Given the description of an element on the screen output the (x, y) to click on. 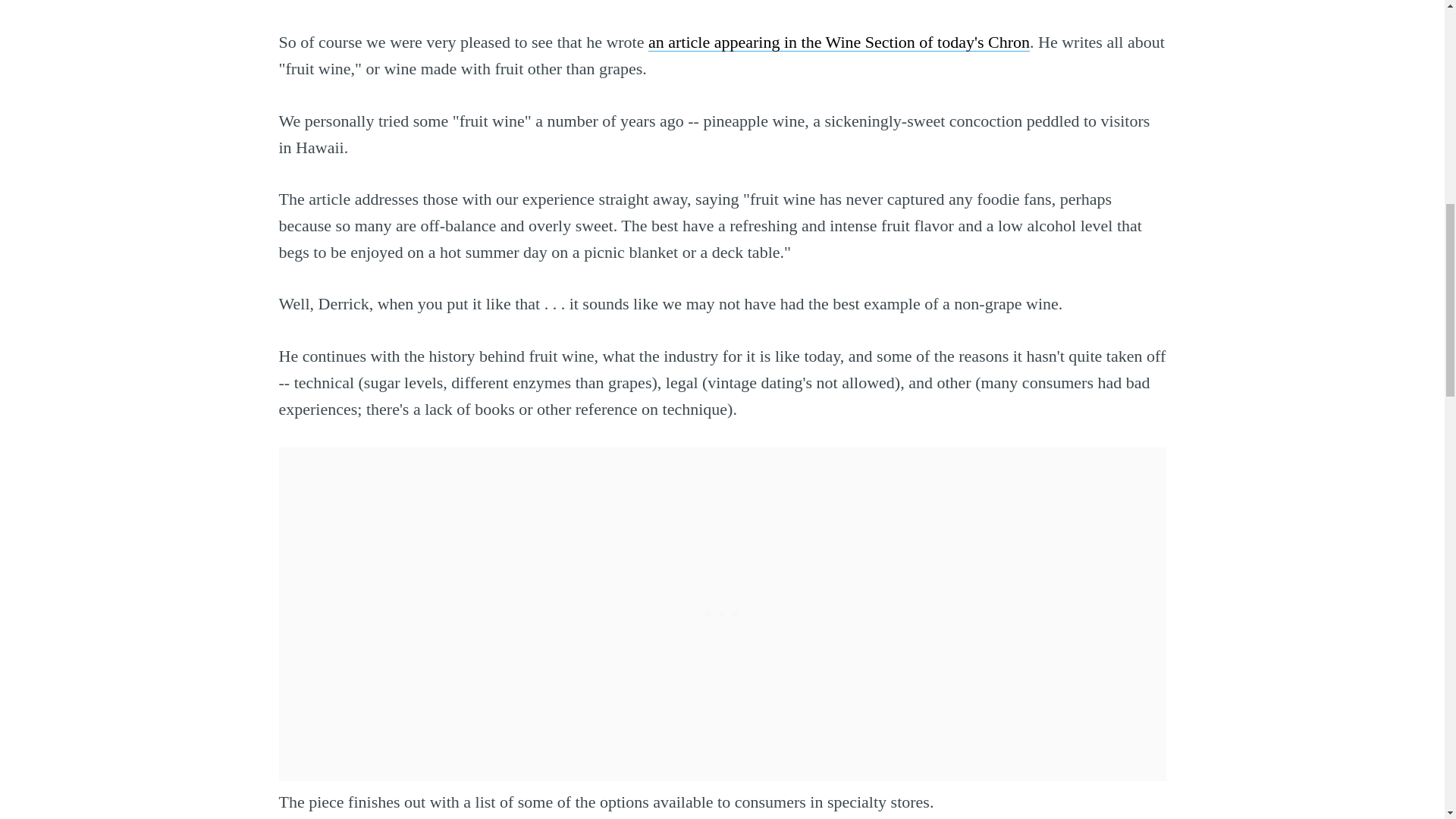
an article appearing in the Wine Section of today's Chron (838, 41)
